Given the description of an element on the screen output the (x, y) to click on. 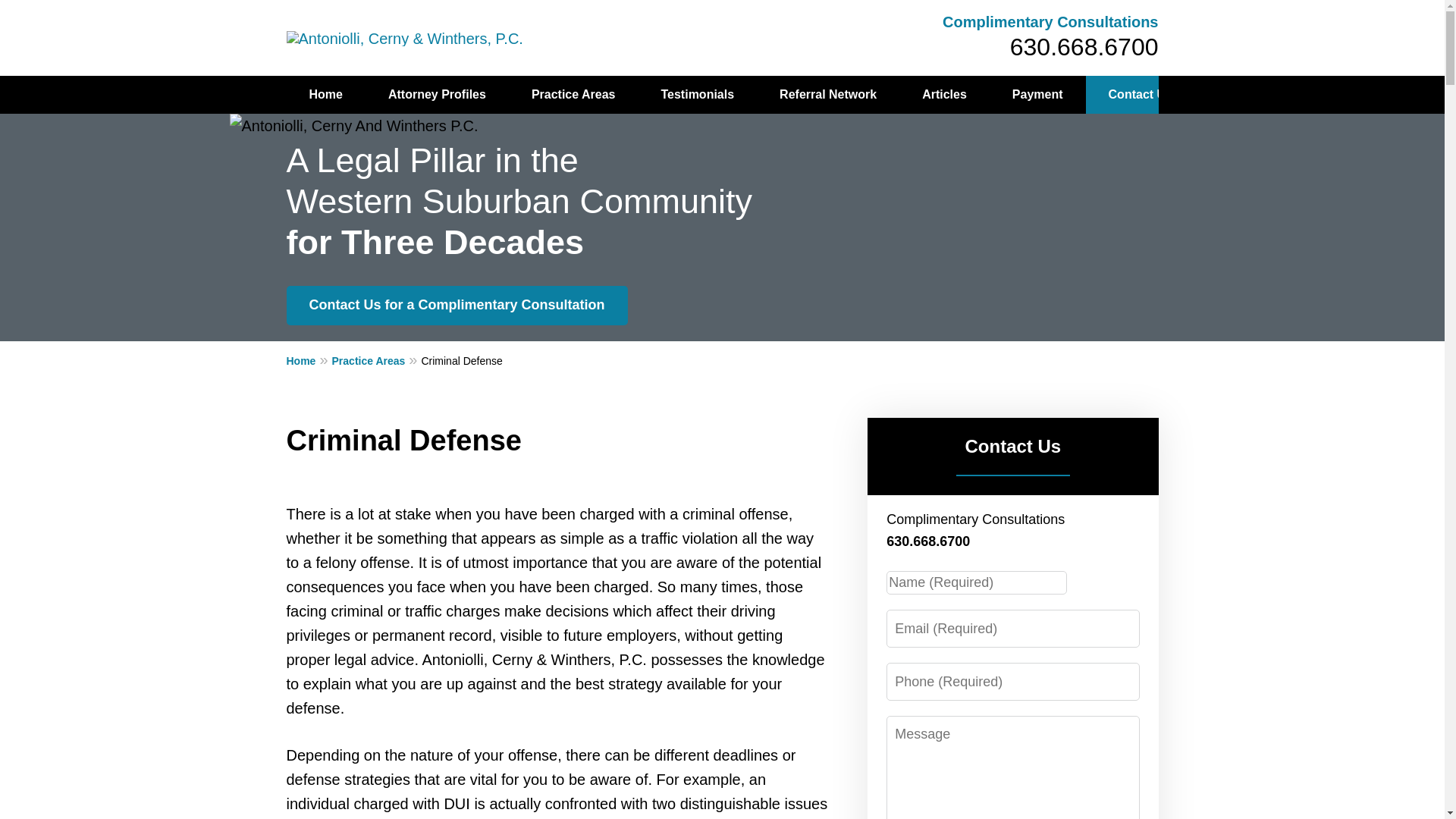
Attorney Profiles (436, 94)
Articles (944, 94)
Testimonials (697, 94)
Referral Network (828, 94)
Contact Us for a Complimentary Consultation (456, 305)
Contact Us (1140, 94)
Practice Areas (573, 94)
Practice Areas (376, 360)
Payment (1038, 94)
Complimentary Consultations (1049, 21)
Home (325, 94)
Home (308, 360)
630.668.6700 (1084, 46)
